Given the description of an element on the screen output the (x, y) to click on. 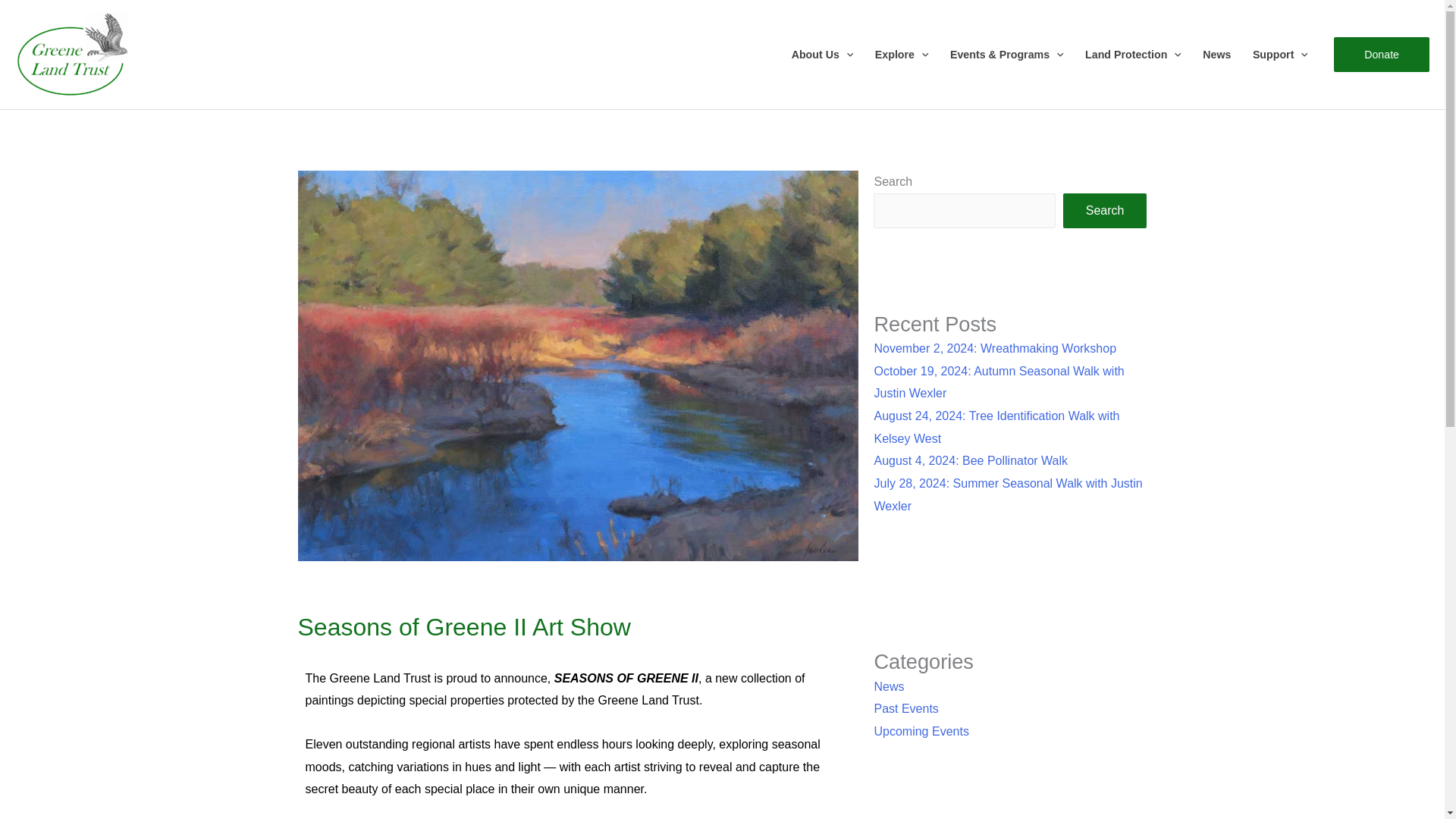
Donate (1381, 54)
News (1216, 54)
About Us (821, 54)
Support (1280, 54)
Land Protection (1133, 54)
Explore (901, 54)
